Given the description of an element on the screen output the (x, y) to click on. 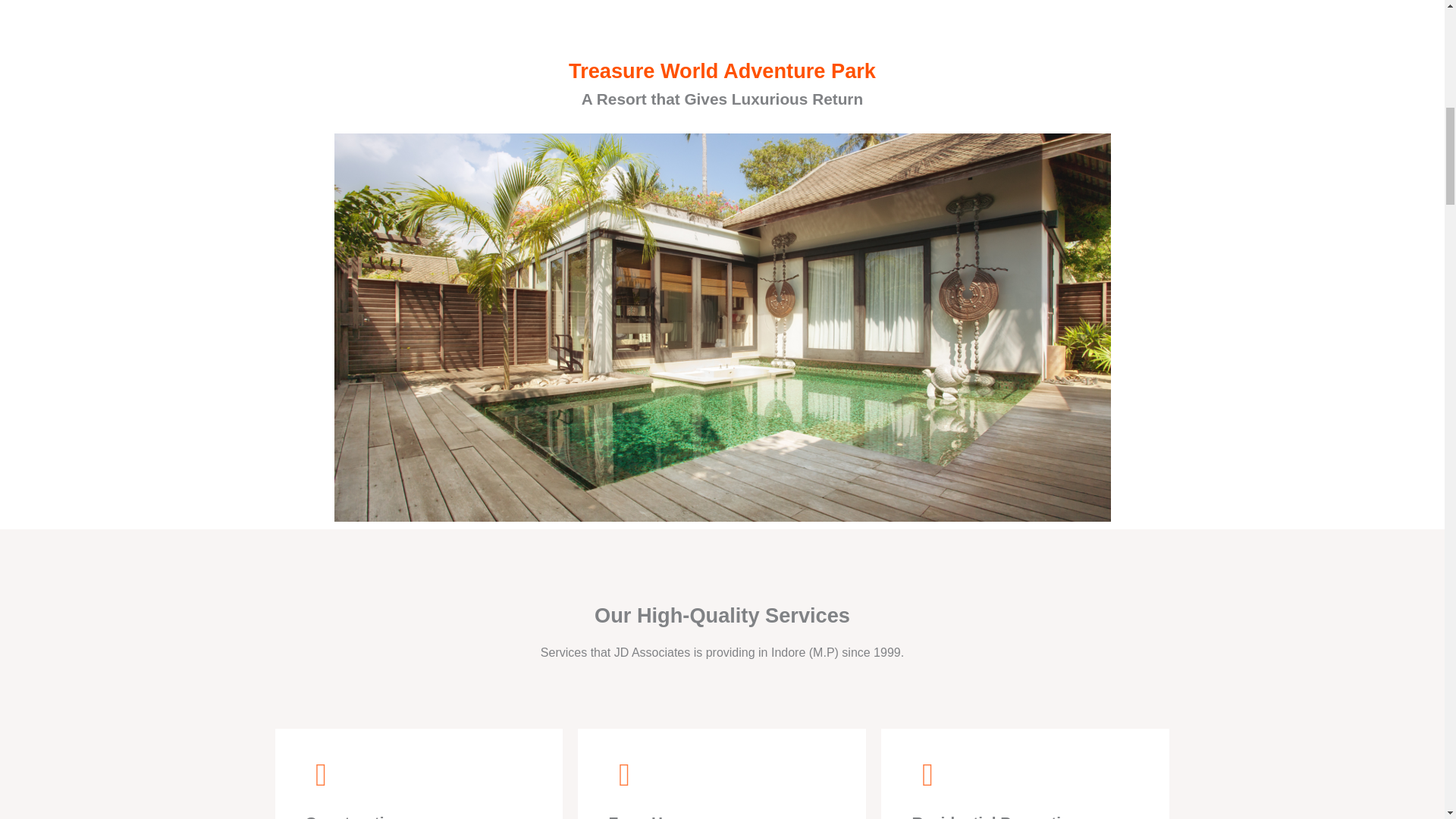
Treasure World Adventure Park (722, 70)
